Given the description of an element on the screen output the (x, y) to click on. 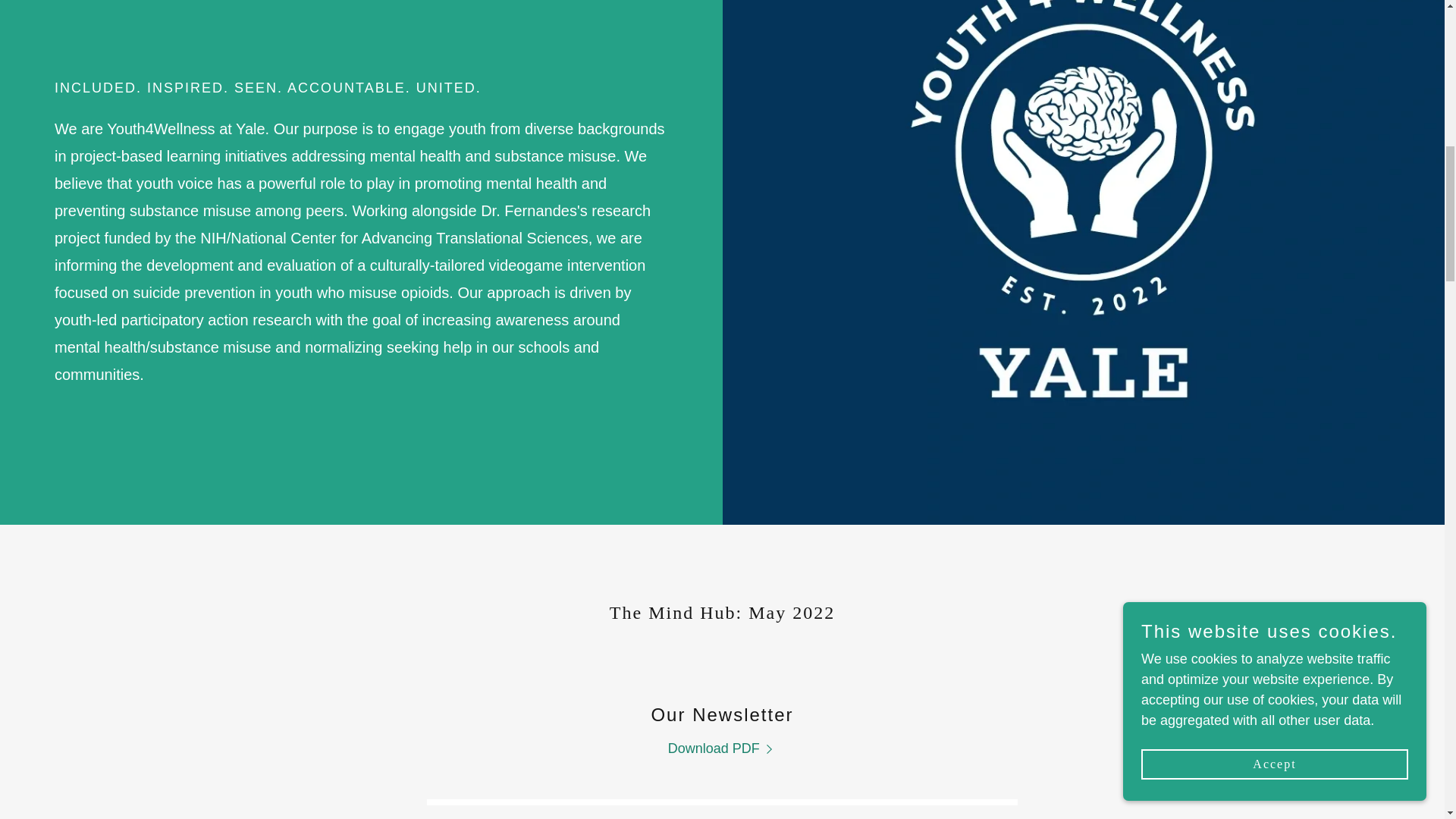
Download PDF (722, 748)
